Given the description of an element on the screen output the (x, y) to click on. 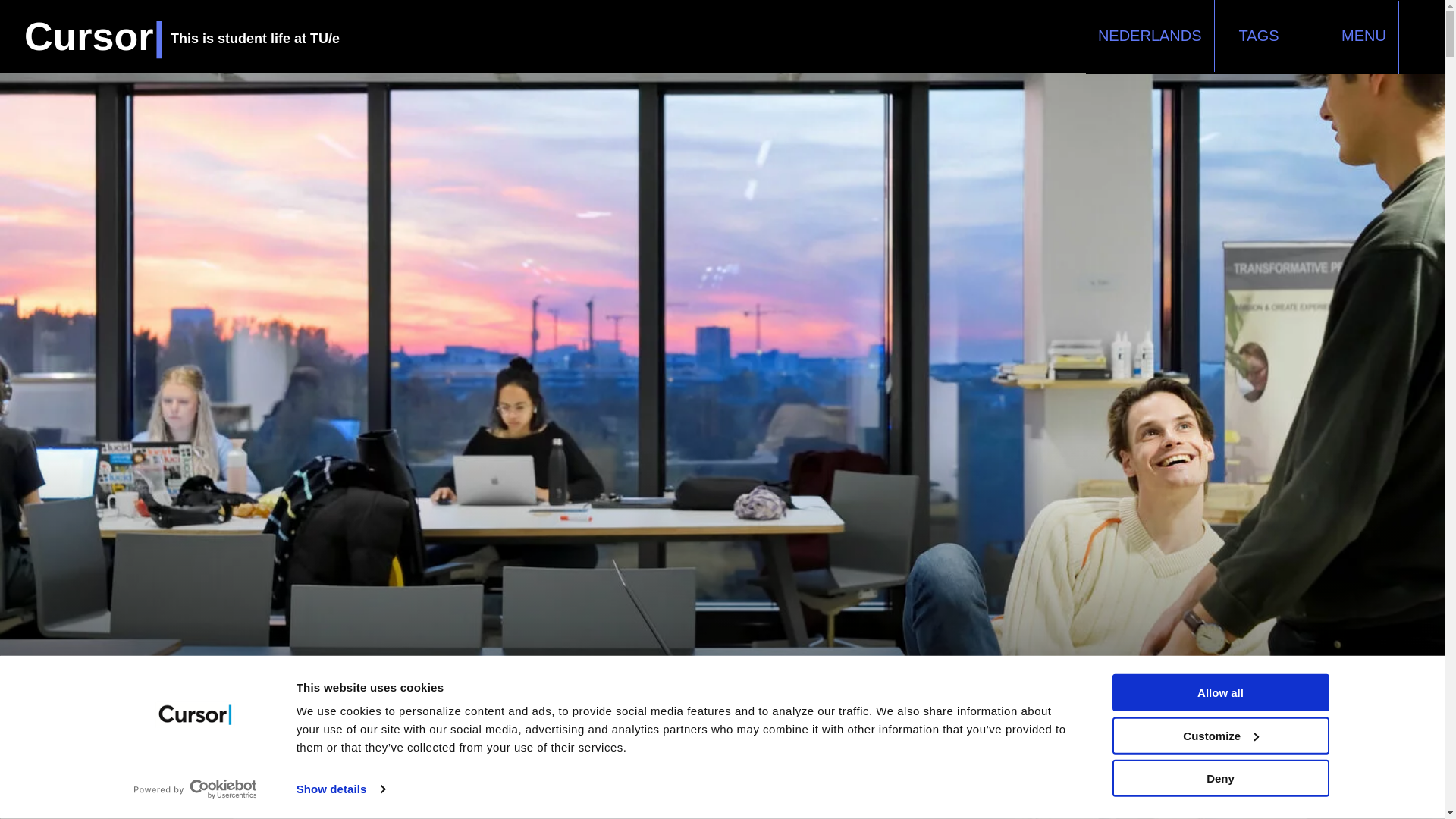
Show details (340, 789)
Verander taal (1150, 35)
Go to homepage (181, 36)
